Given the description of an element on the screen output the (x, y) to click on. 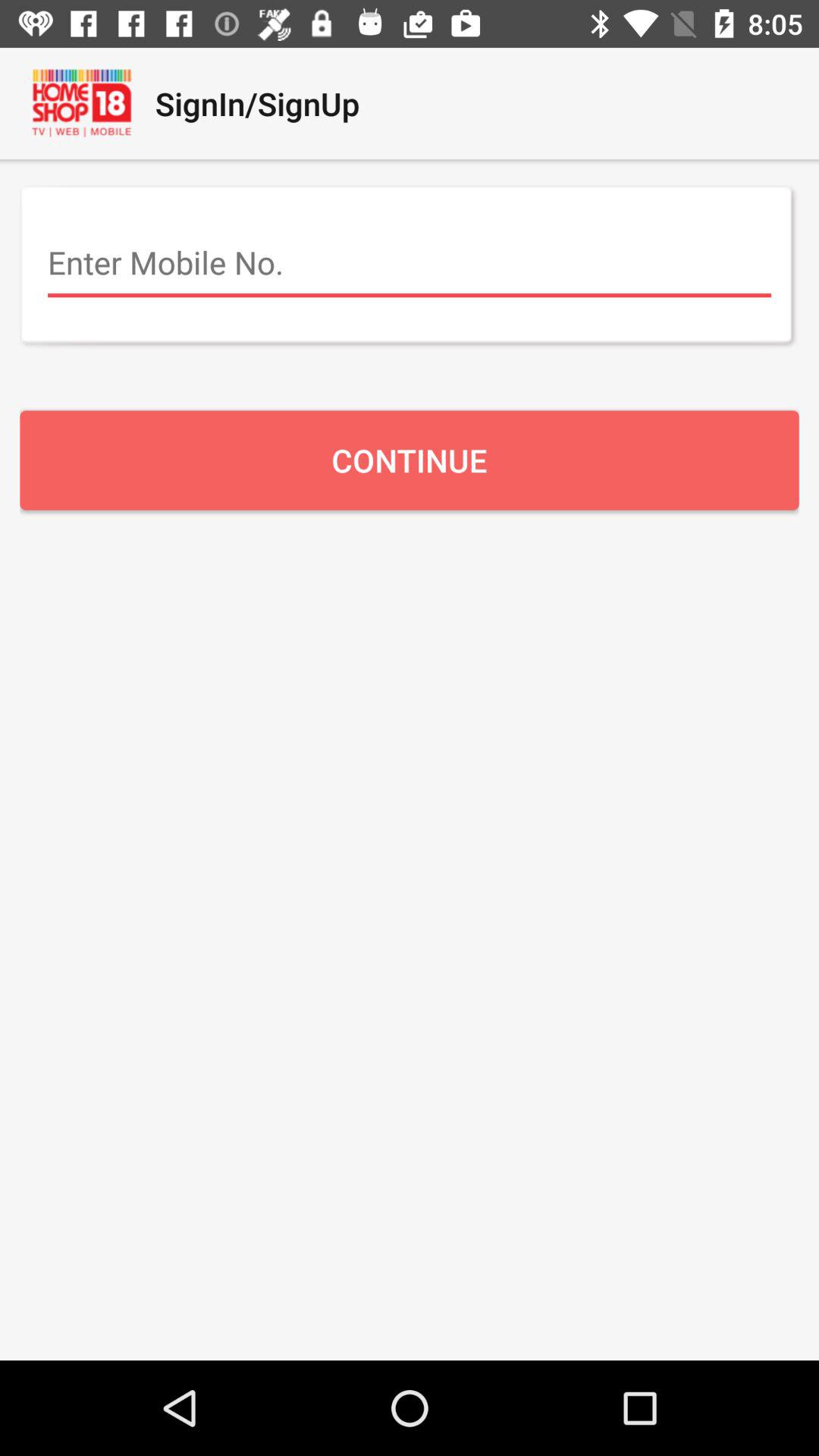
turn off the continue (409, 460)
